Given the description of an element on the screen output the (x, y) to click on. 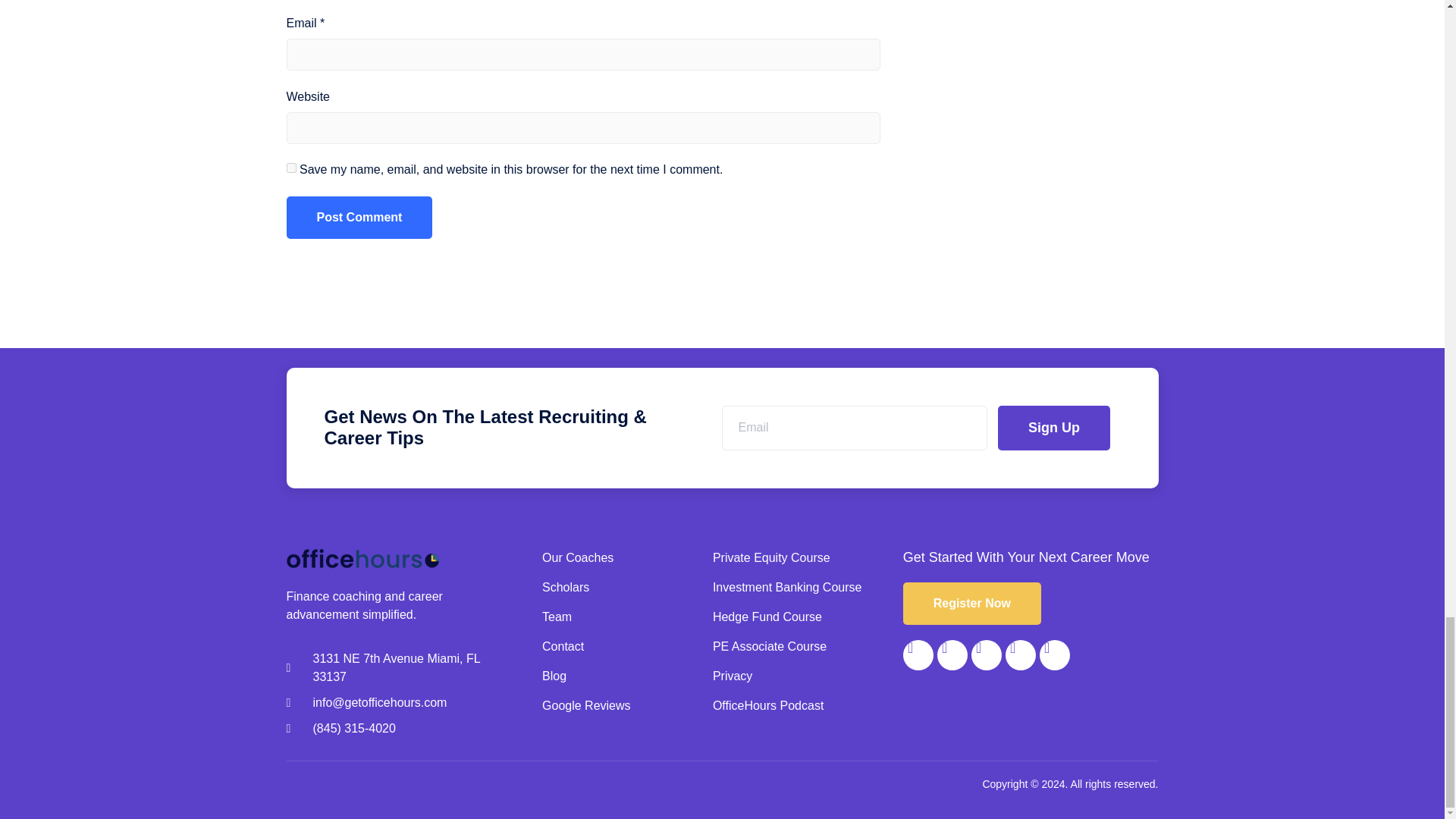
Post Comment (359, 217)
yes (291, 167)
Post Comment (359, 217)
